Given the description of an element on the screen output the (x, y) to click on. 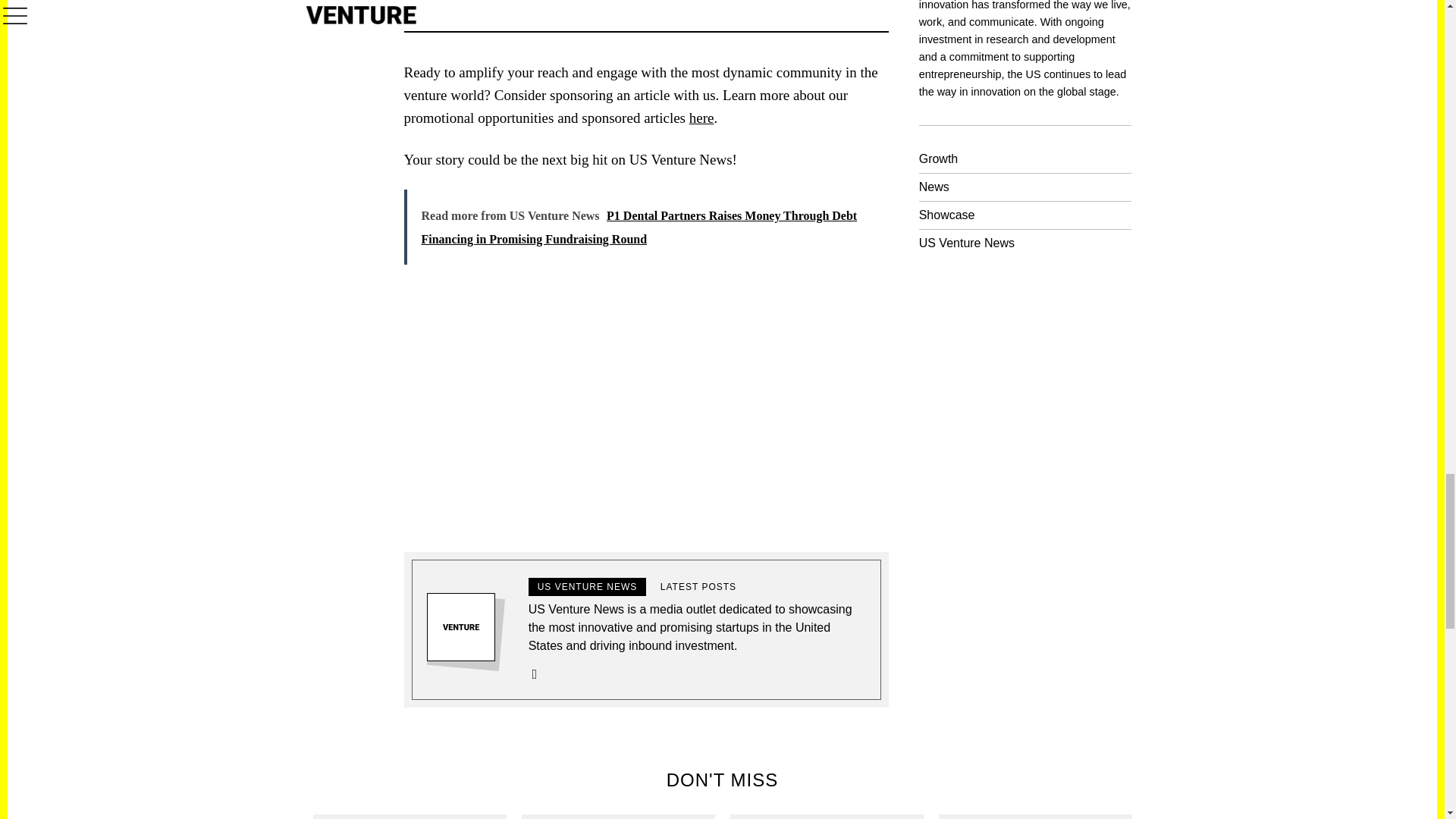
Showcase (946, 214)
Growth (938, 158)
LATEST POSTS (697, 587)
US VENTURE NEWS (587, 587)
here (701, 117)
News (933, 186)
Advertisement (708, 415)
